Given the description of an element on the screen output the (x, y) to click on. 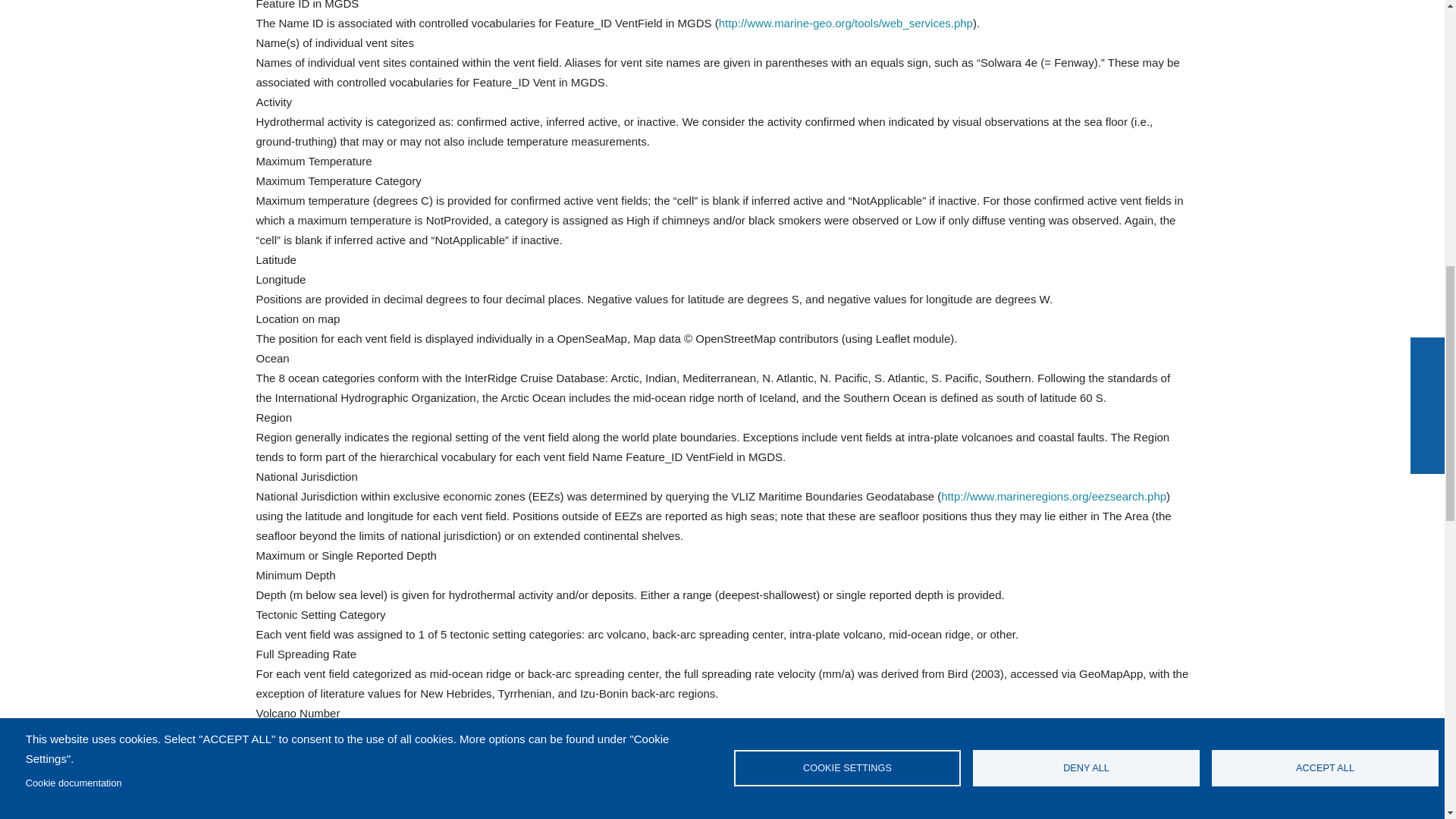
www.volcano.si.edu (794, 752)
